Given the description of an element on the screen output the (x, y) to click on. 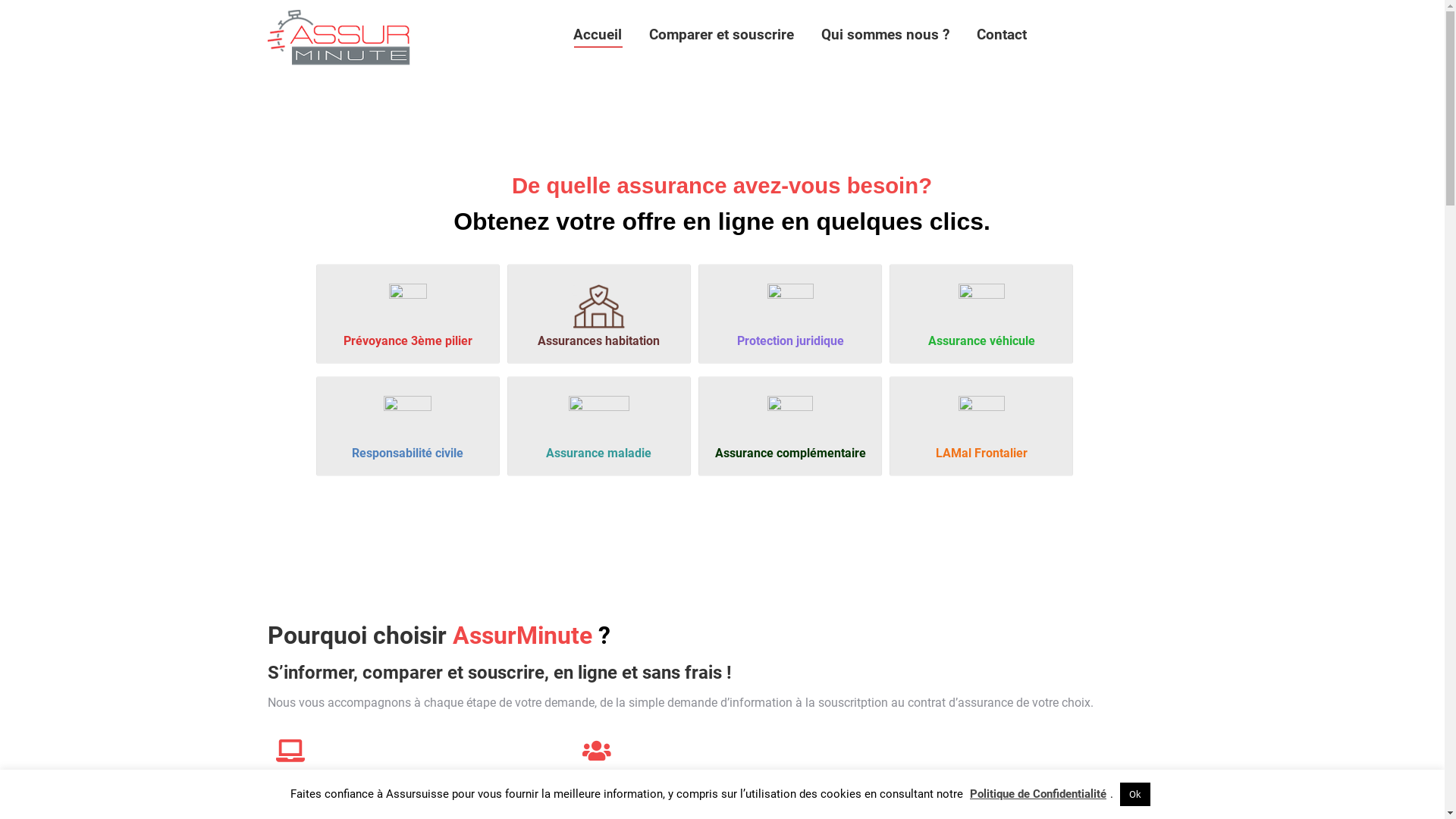
Comparer et souscrire Element type: text (721, 33)
Qui sommes nous ? Element type: text (885, 33)
Ok Element type: text (1135, 794)
Contact Element type: text (1001, 33)
Accueil Element type: text (597, 33)
